Given the description of an element on the screen output the (x, y) to click on. 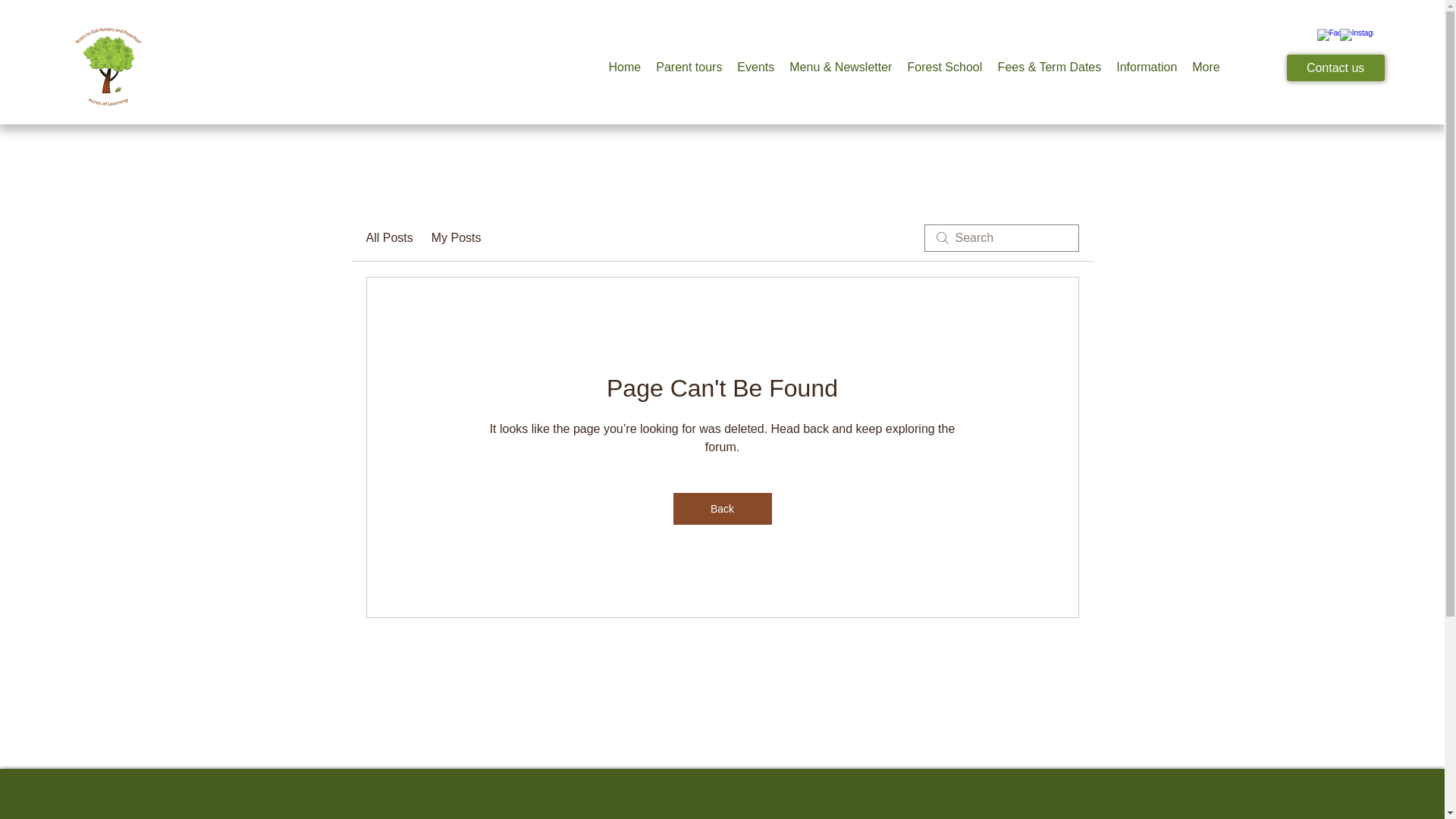
Events (755, 67)
Back (721, 508)
Forest School (944, 67)
My Posts (455, 238)
Contact us (1335, 67)
Parent tours (688, 67)
Home (623, 67)
Information (1146, 67)
All Posts (388, 238)
